Given the description of an element on the screen output the (x, y) to click on. 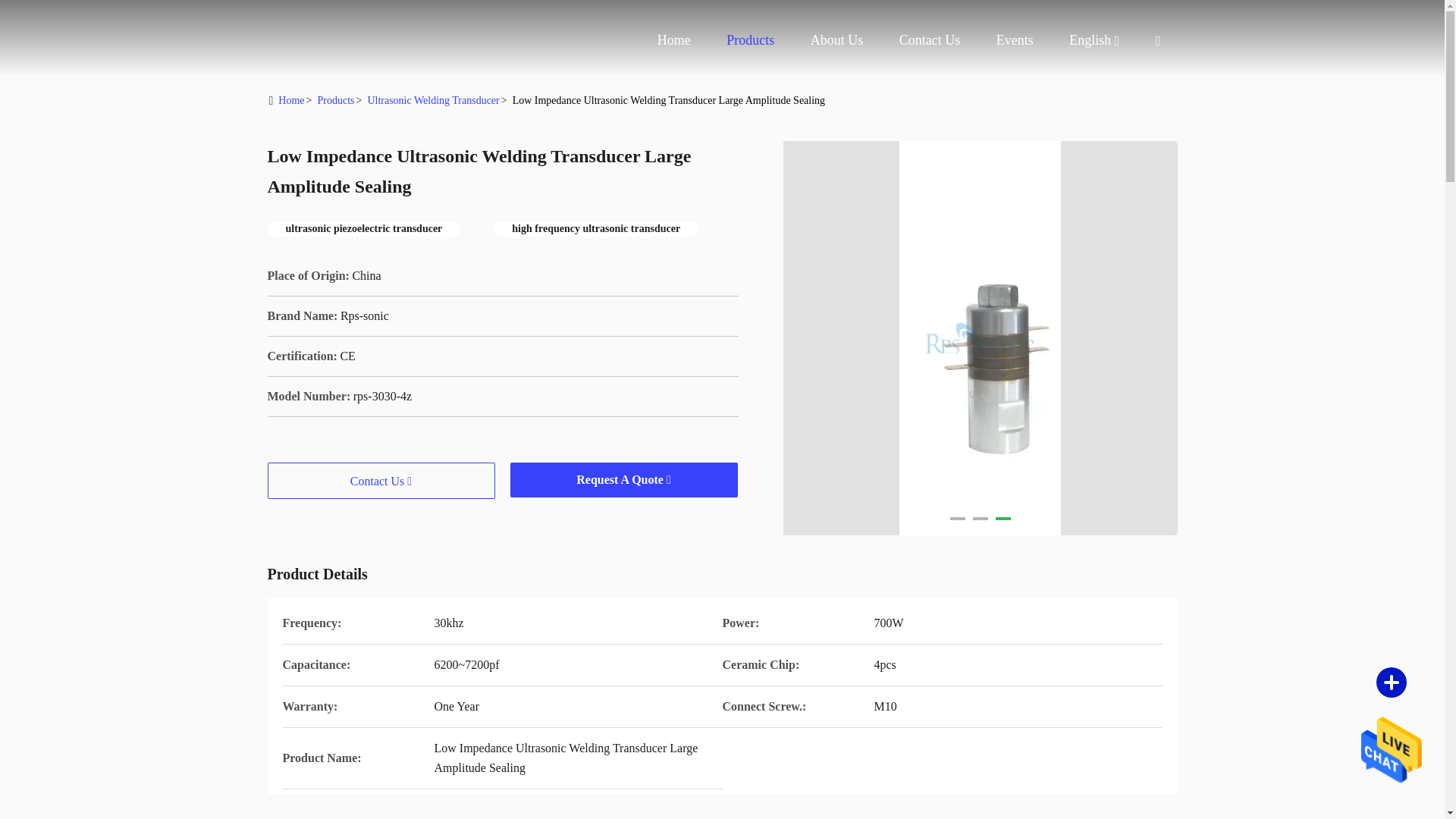
Products (750, 40)
About Us (836, 40)
Contact Us (929, 40)
About Us (836, 40)
Contact Us (929, 40)
Products (750, 40)
